Given the description of an element on the screen output the (x, y) to click on. 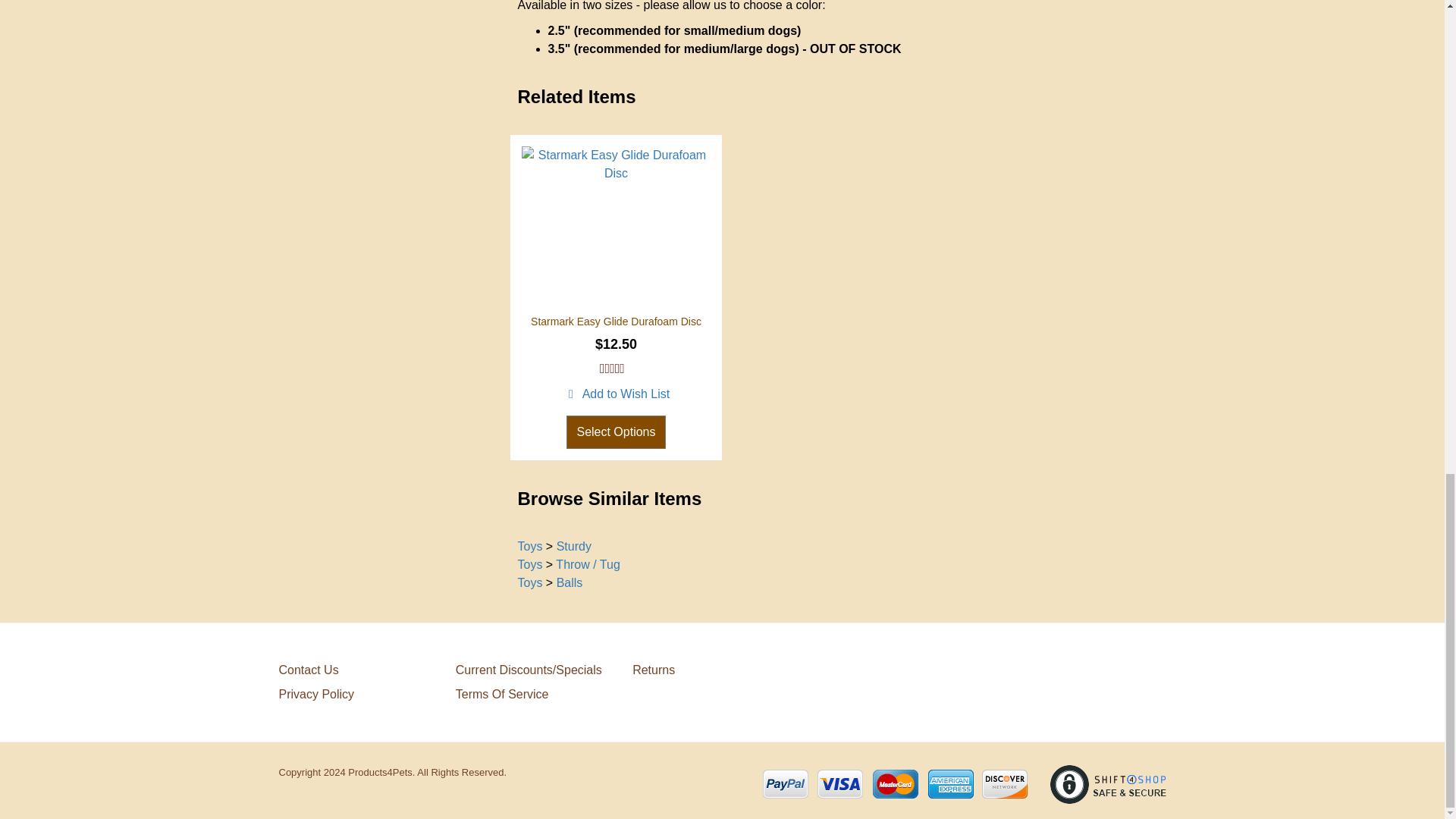
3dcart Safe and Secure (1107, 783)
